Given the description of an element on the screen output the (x, y) to click on. 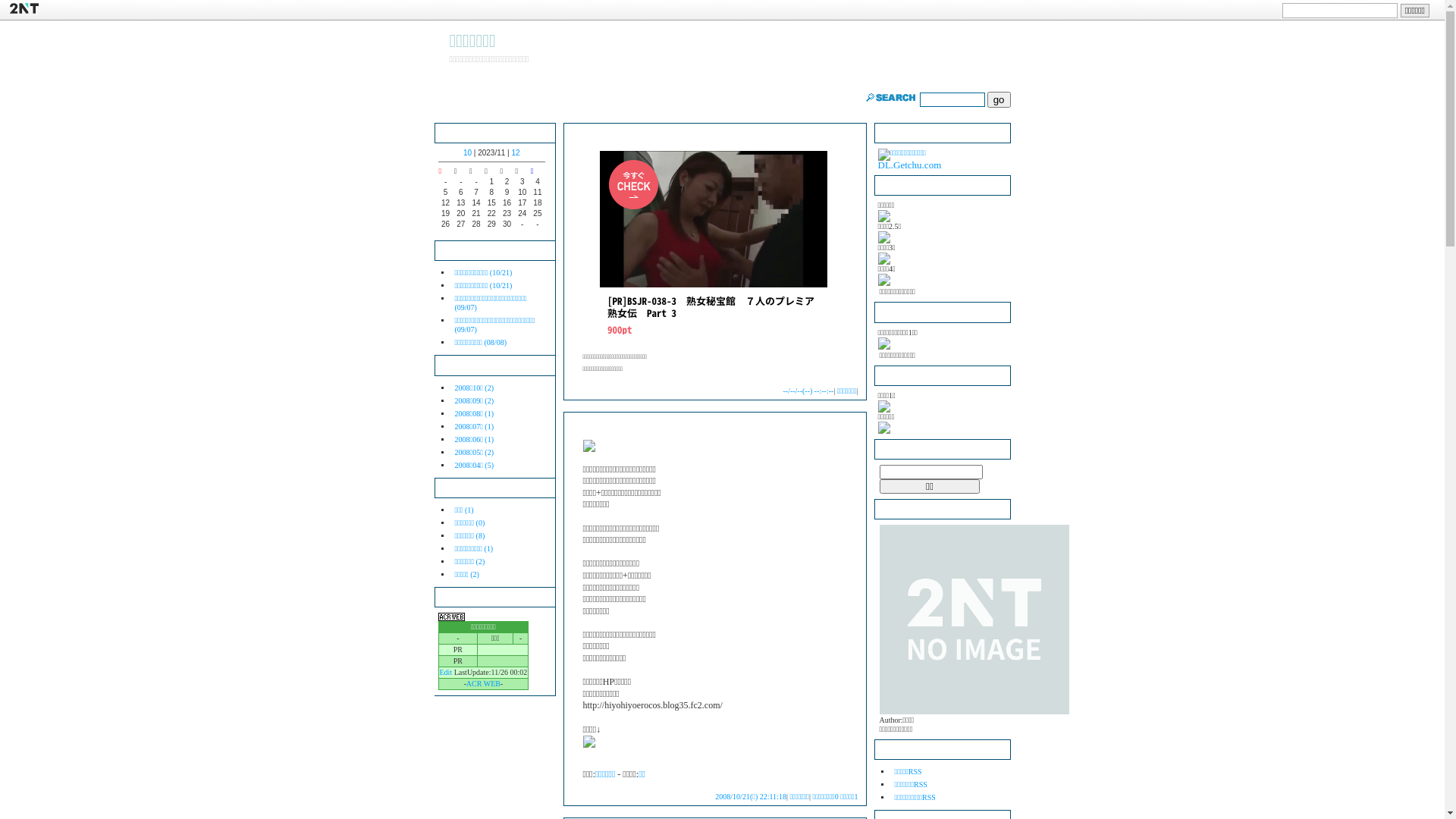
12 Element type: text (515, 152)
DL.Getchu.com Element type: text (909, 158)
ACR WEB Element type: text (483, 683)
Edit Element type: text (445, 672)
--/--/--(--) --:--:-- Element type: text (807, 390)
10 Element type: text (467, 152)
go Element type: text (998, 99)
